Given the description of an element on the screen output the (x, y) to click on. 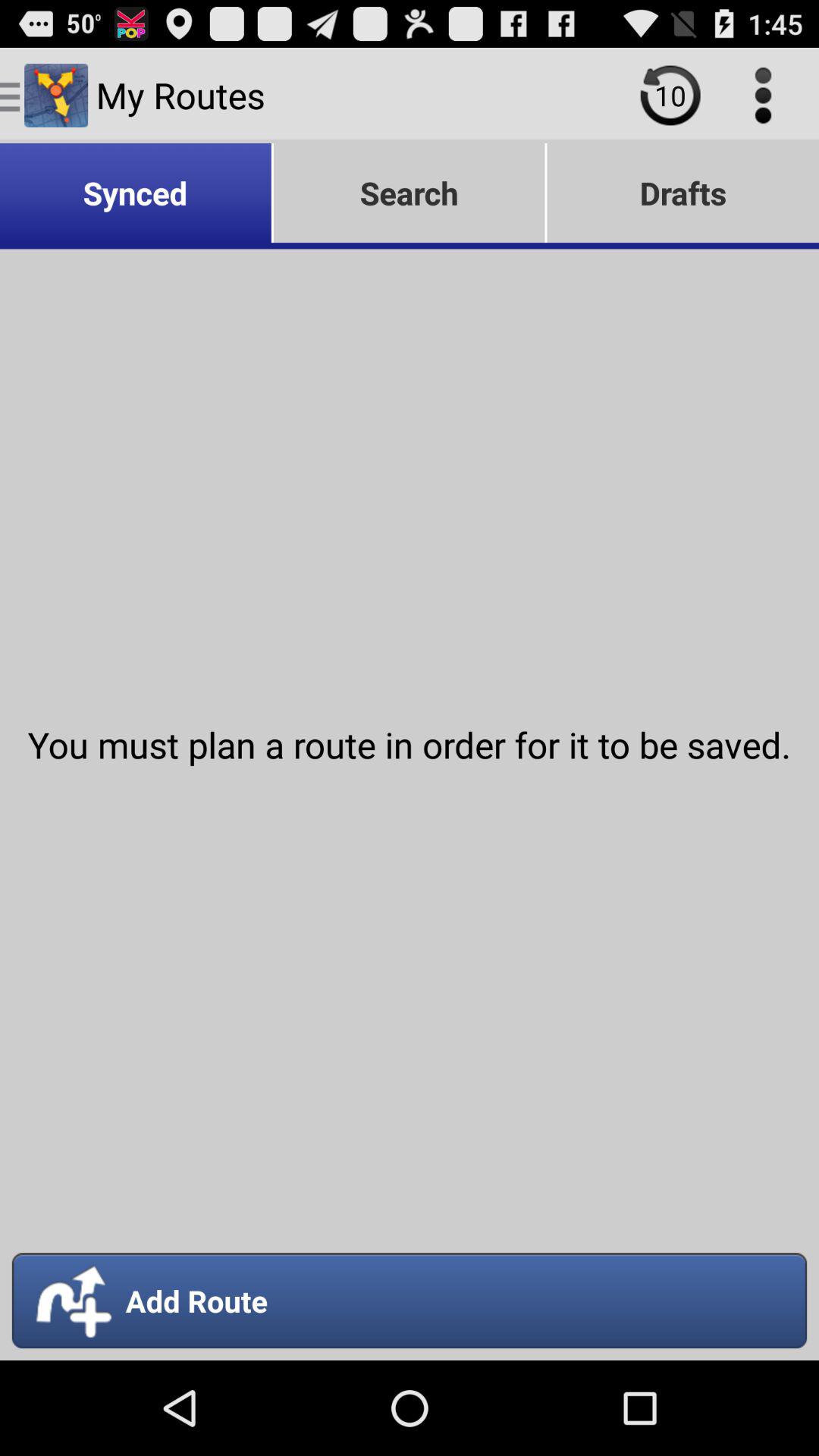
turn off the icon next to my routes icon (670, 95)
